Given the description of an element on the screen output the (x, y) to click on. 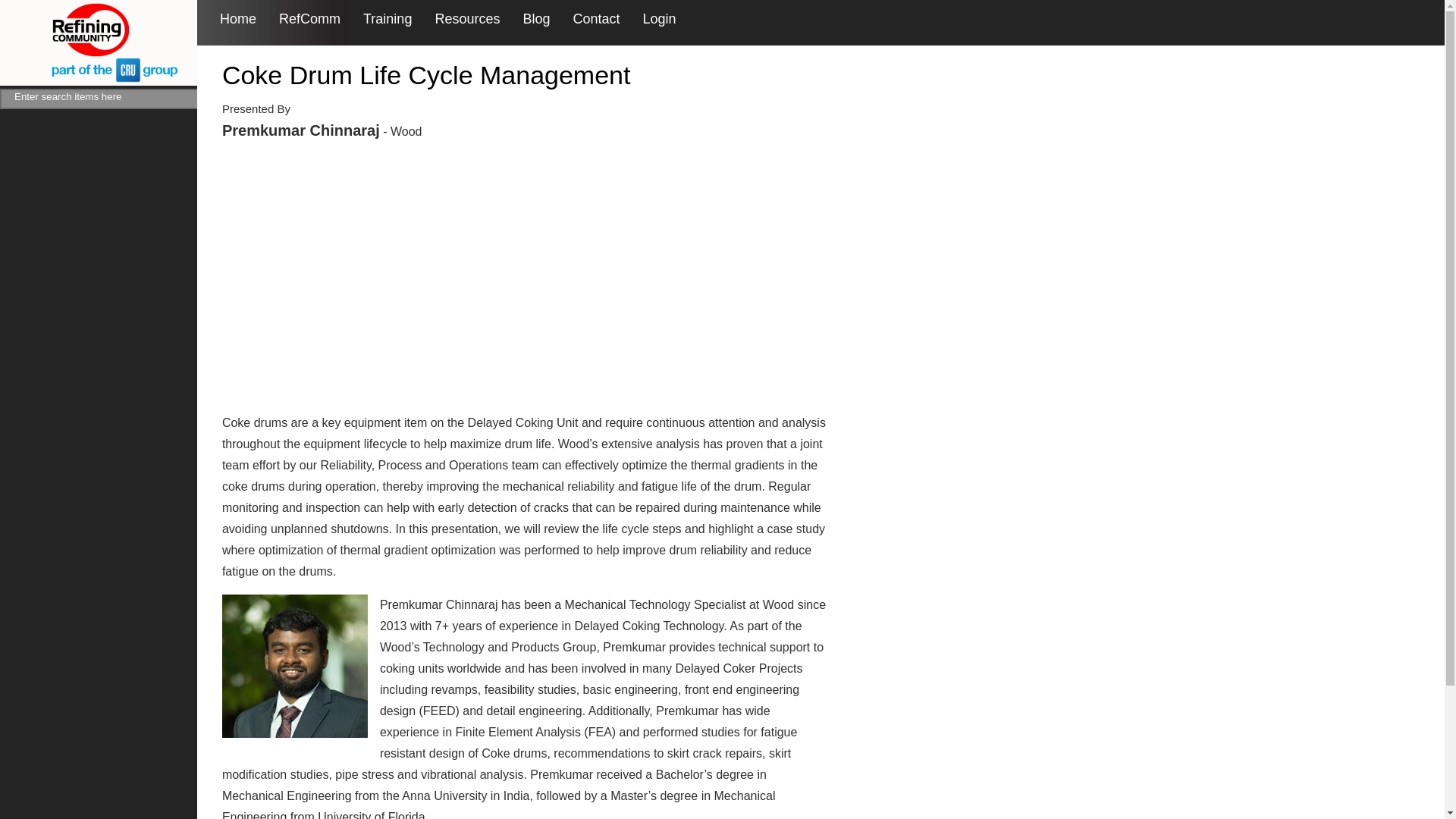
Search (217, 98)
Blog (536, 19)
RefComm (309, 19)
Training (387, 19)
YouTube video player (434, 273)
Contact (596, 19)
Resources (466, 19)
Home (237, 19)
Login (660, 19)
